Given the description of an element on the screen output the (x, y) to click on. 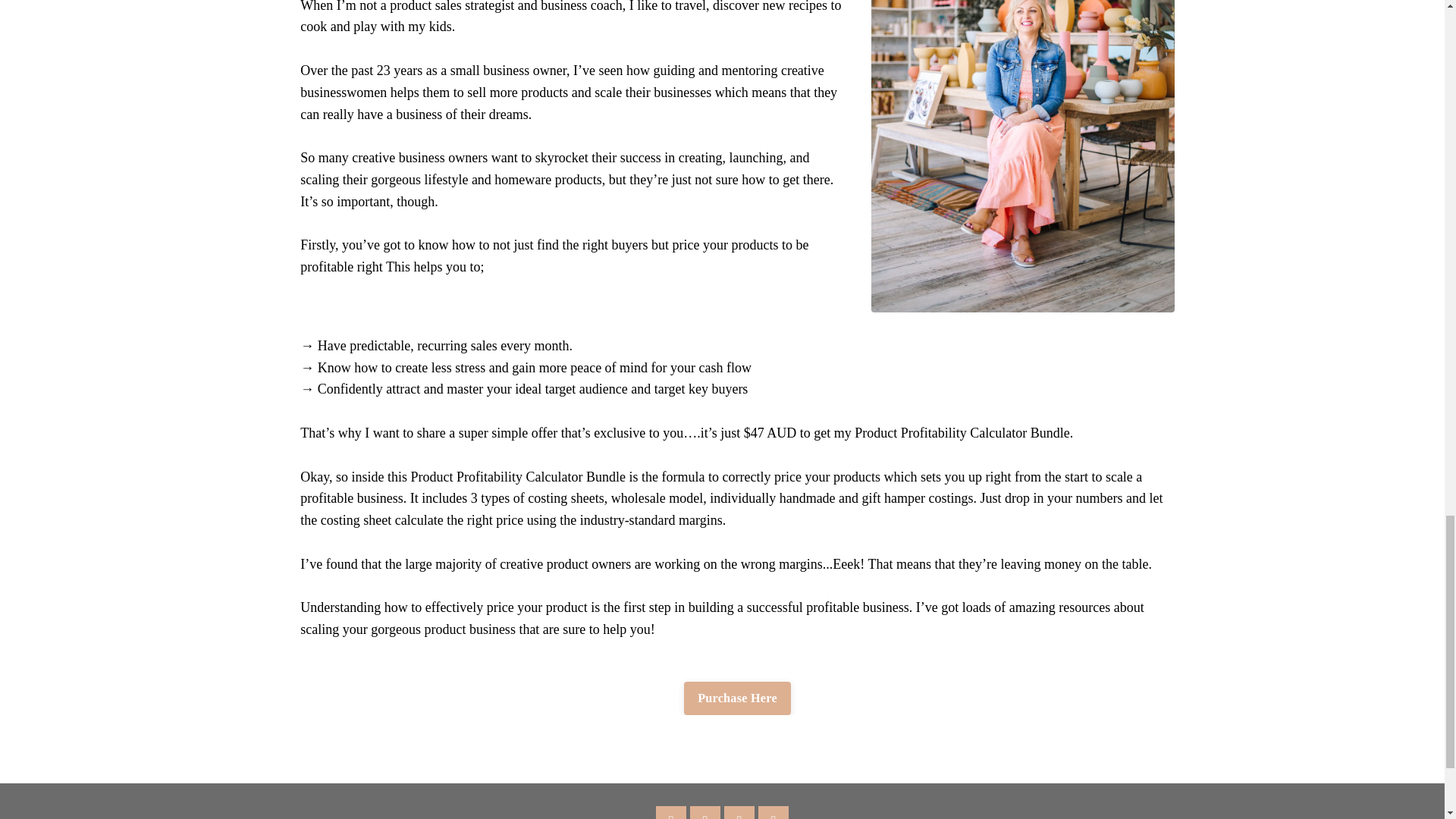
Purchase Here (737, 697)
